Given the description of an element on the screen output the (x, y) to click on. 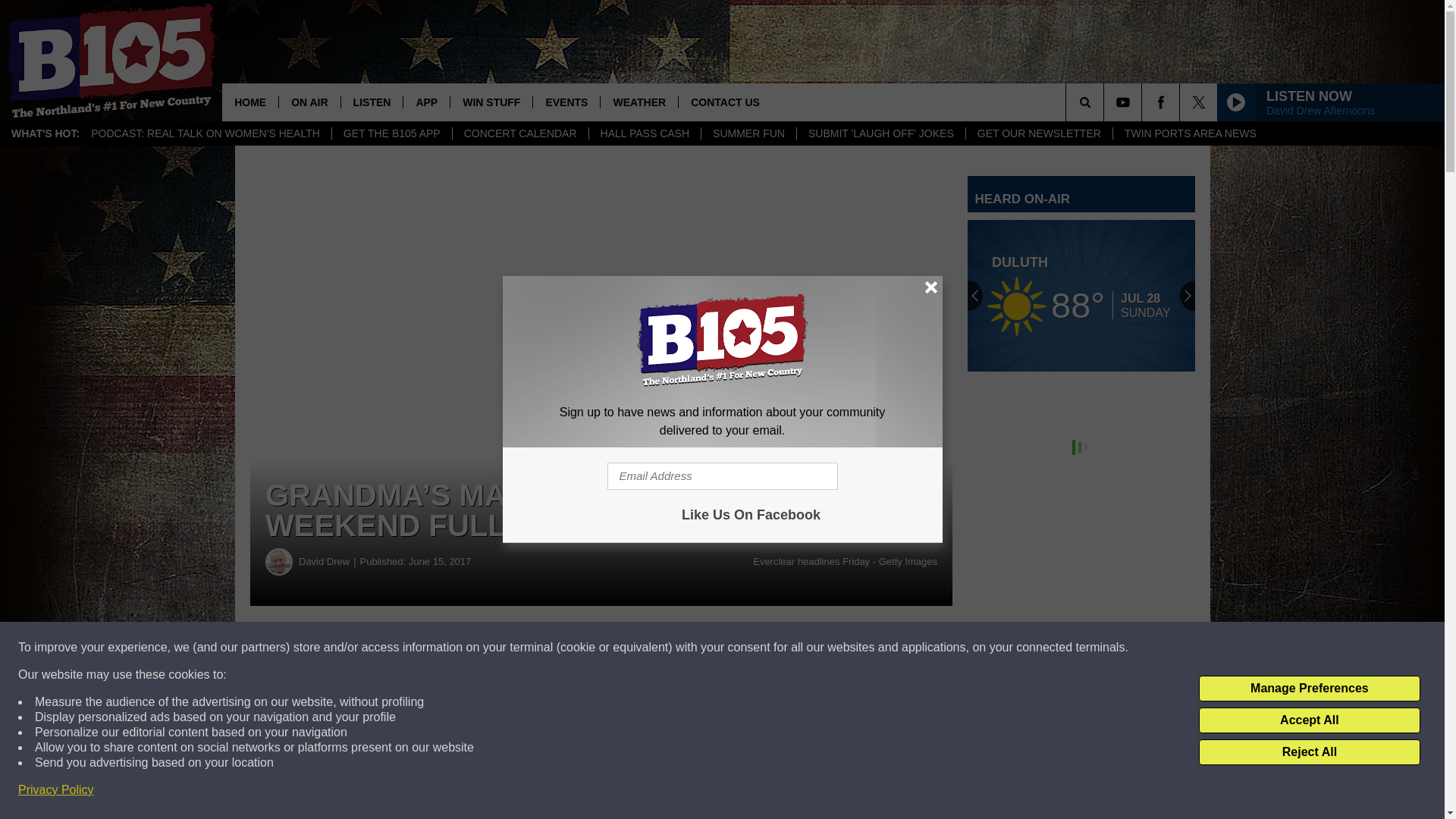
Duluth Weather (1081, 295)
Privacy Policy (55, 789)
LISTEN (371, 102)
GET THE B105 APP (391, 133)
HOME (250, 102)
CONCERT CALENDAR (519, 133)
Share on Facebook (460, 647)
Email Address (722, 475)
SEARCH (1106, 102)
HALL PASS CASH (644, 133)
PODCAST: REAL TALK ON WOMEN'S HEALTH (205, 133)
Reject All (1309, 751)
TWIN PORTS AREA NEWS (1190, 133)
SEARCH (1106, 102)
SUMMER FUN (748, 133)
